Given the description of an element on the screen output the (x, y) to click on. 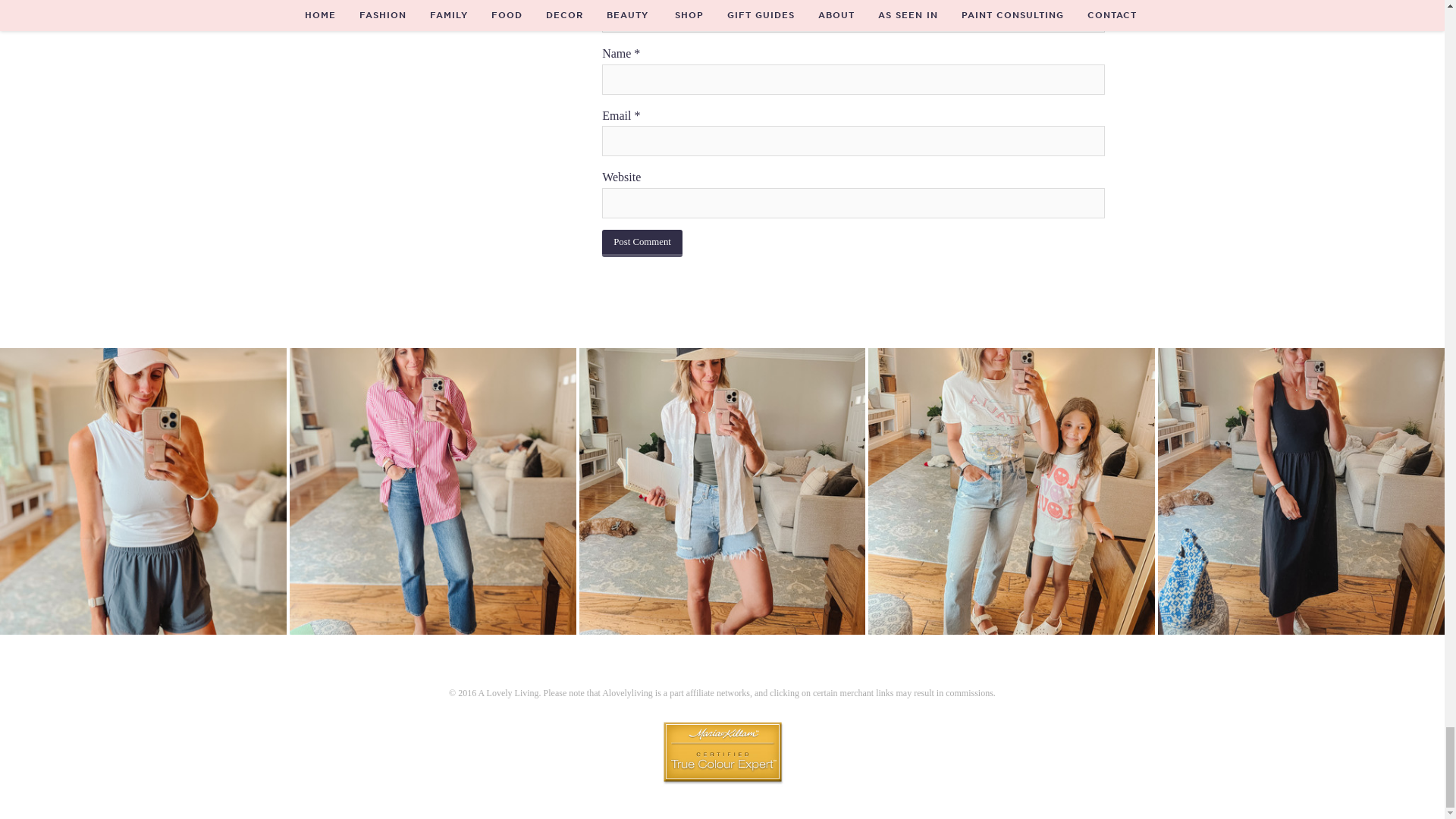
Post Comment (642, 243)
